Given the description of an element on the screen output the (x, y) to click on. 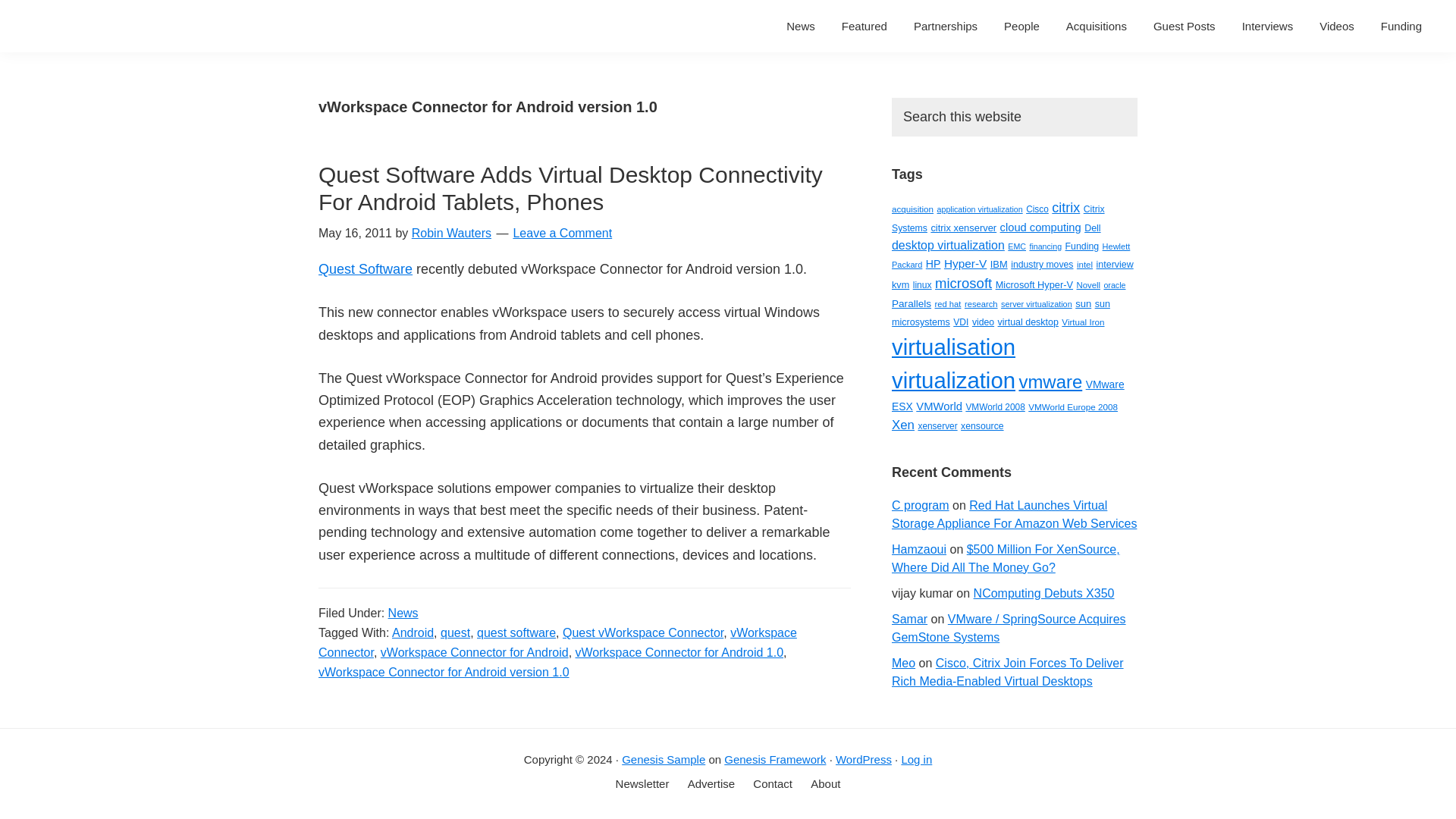
Featured (863, 25)
quest (455, 632)
vWorkspace Connector (557, 642)
vWorkspace Connector for Android 1.0 (679, 652)
People (1021, 25)
quest software (516, 632)
Dell (1092, 227)
Funding (1082, 245)
News (800, 25)
